Given the description of an element on the screen output the (x, y) to click on. 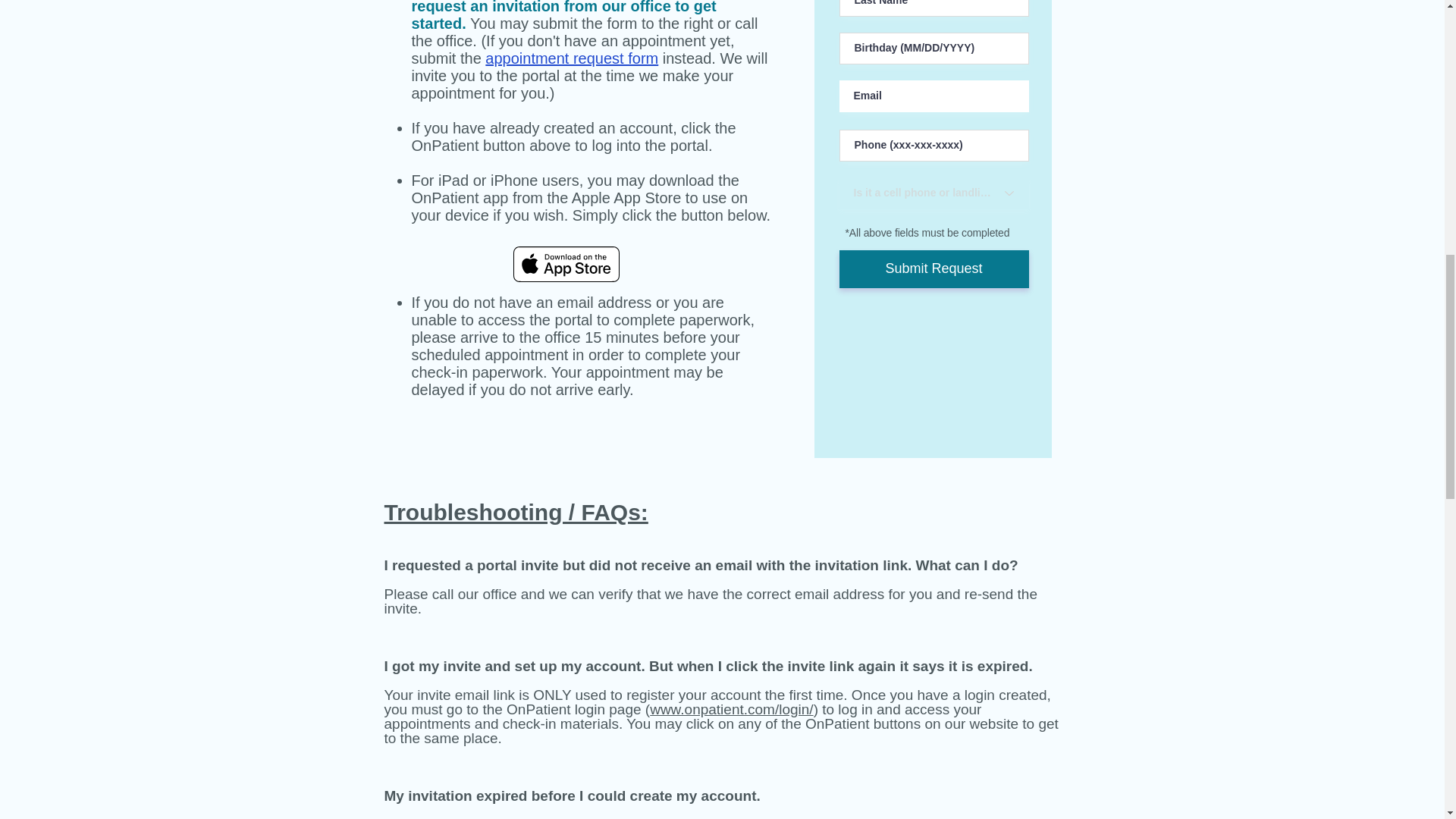
Submit Request (932, 269)
appointment request form (571, 57)
instead (684, 57)
